Given the description of an element on the screen output the (x, y) to click on. 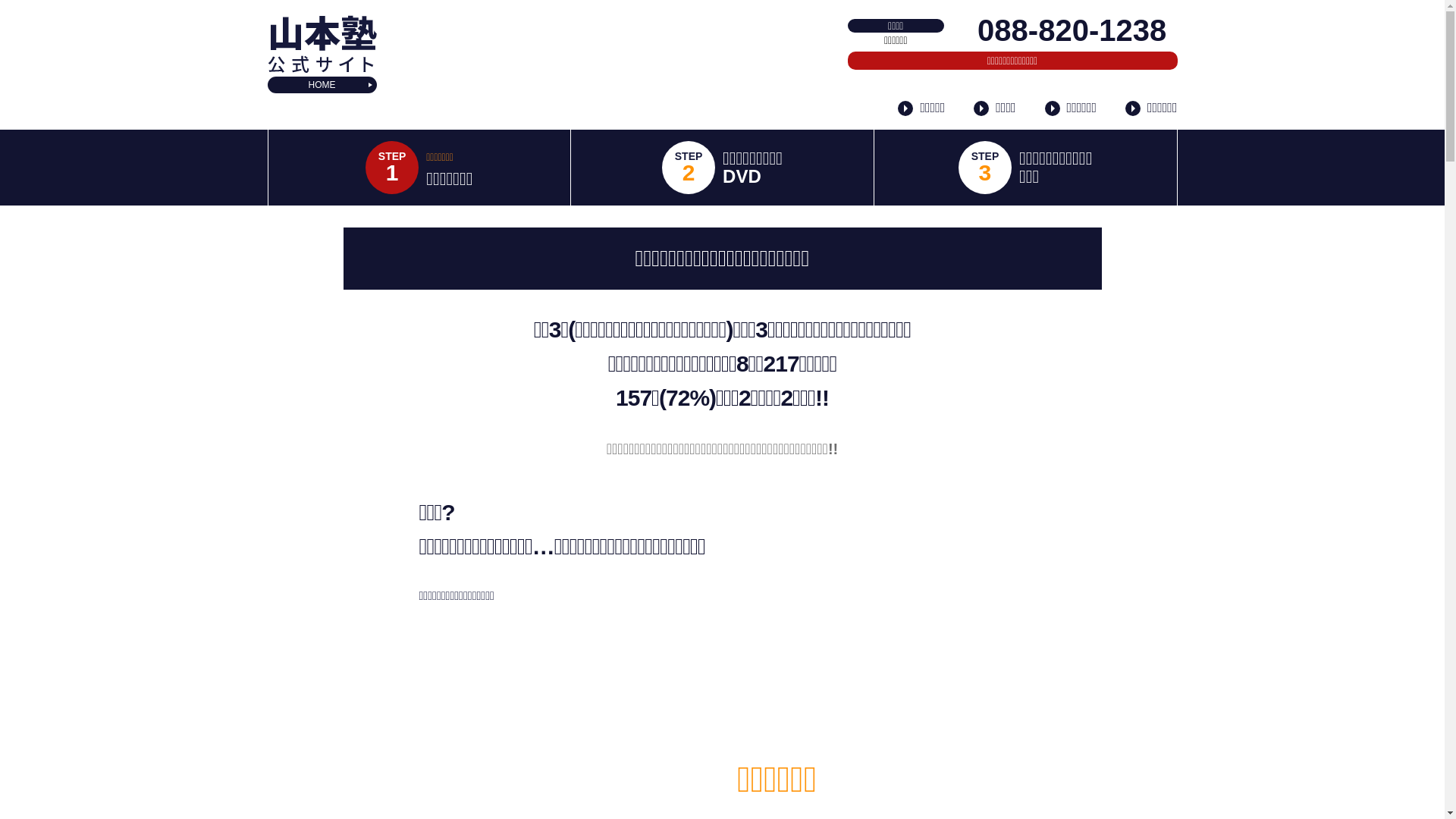
HOME Element type: text (321, 84)
